Given the description of an element on the screen output the (x, y) to click on. 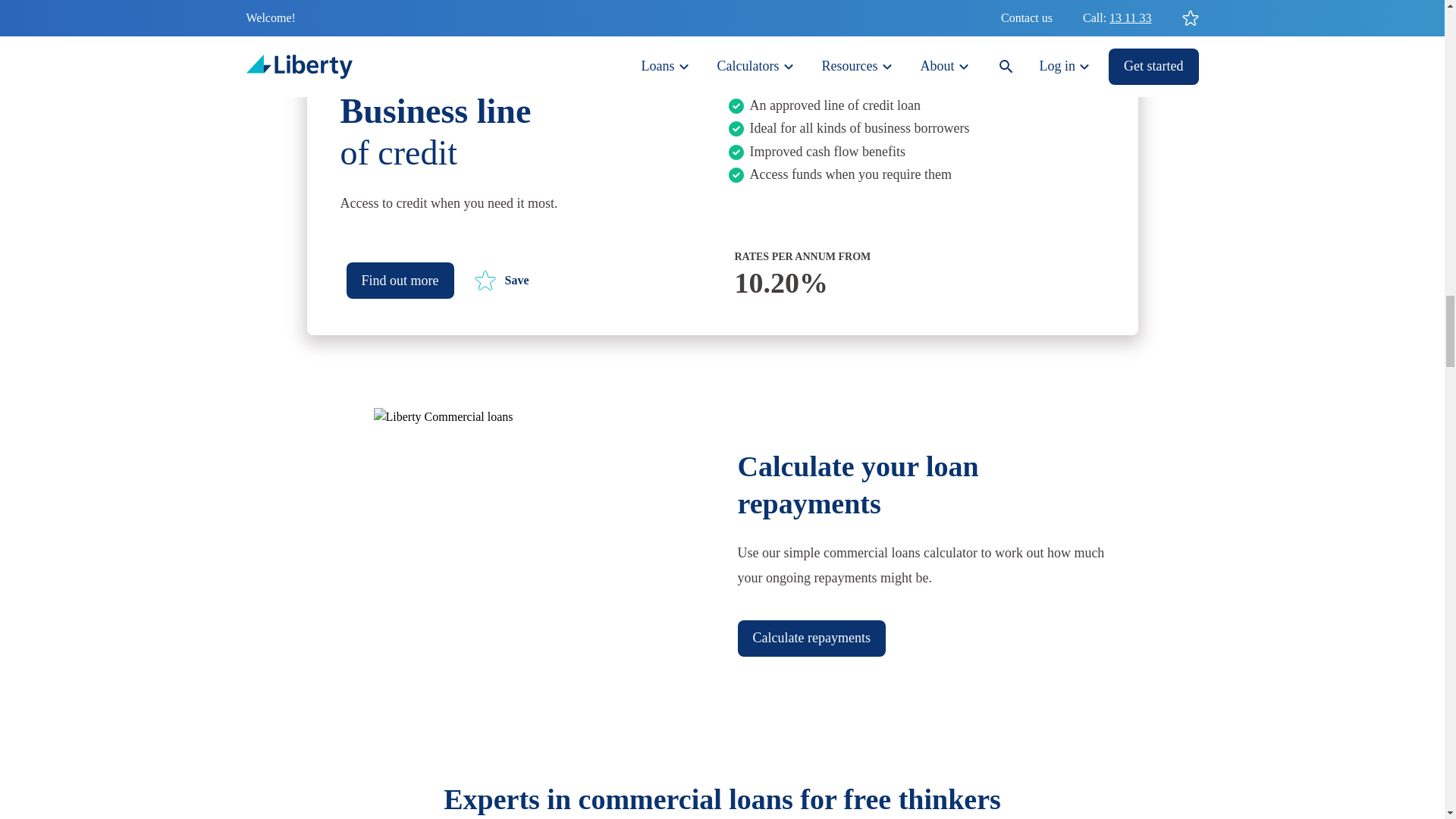
Calculate repayments (810, 637)
Save (518, 128)
Find out more (500, 280)
